Given the description of an element on the screen output the (x, y) to click on. 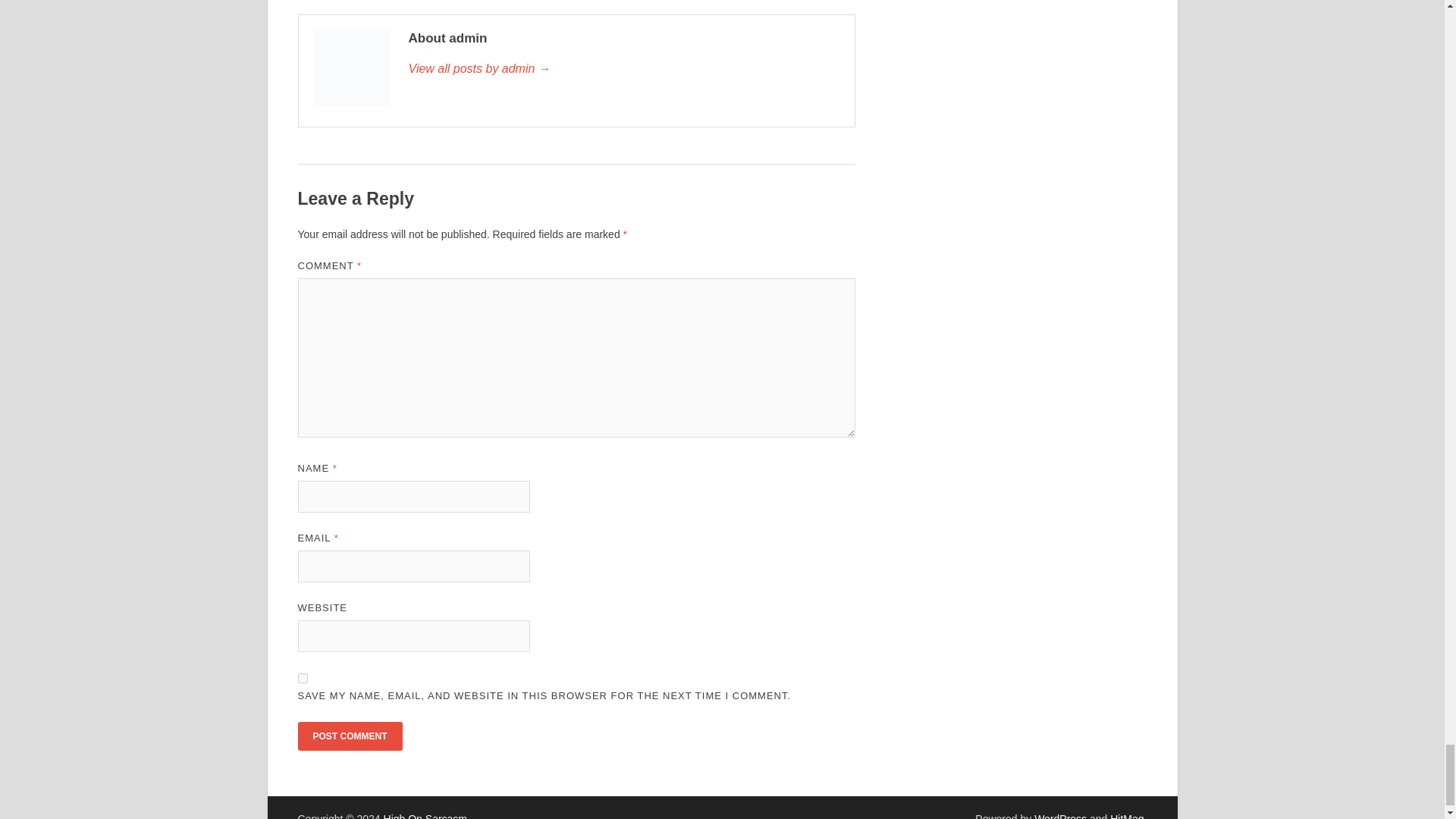
Post Comment (349, 736)
admin (622, 68)
yes (302, 678)
